Given the description of an element on the screen output the (x, y) to click on. 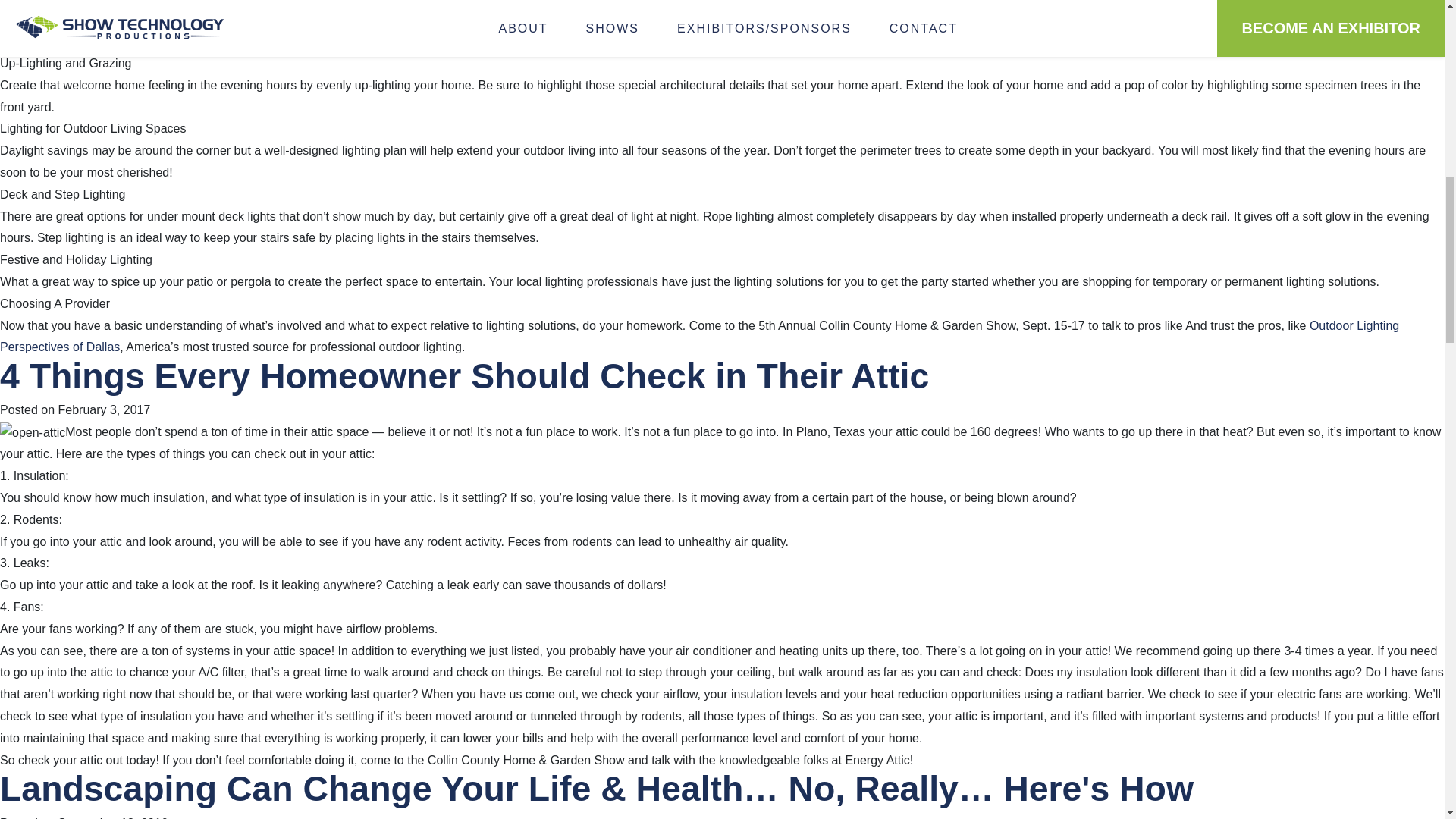
4 Things Every Homeowner Should Check in Their Attic (464, 375)
Outdoor Lighting Perspectives of Dallas (699, 335)
